Given the description of an element on the screen output the (x, y) to click on. 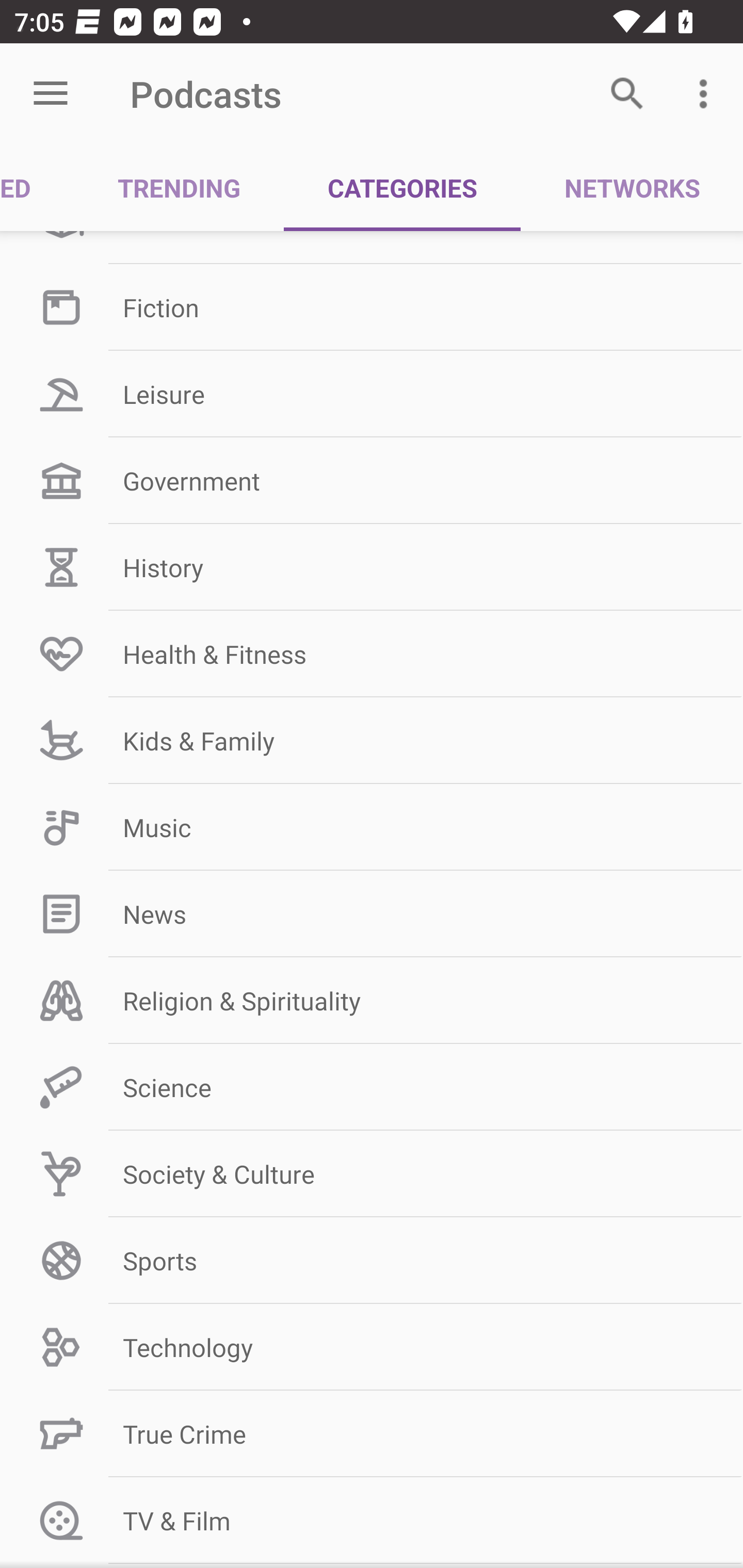
Open menu (50, 93)
Search (626, 93)
More options (706, 93)
TRENDING (178, 187)
CATEGORIES (401, 187)
NETWORKS (631, 187)
Fiction (371, 307)
Leisure (371, 394)
Government (371, 480)
History (371, 566)
Health & Fitness (371, 653)
Kids & Family (371, 740)
Music (371, 827)
News (371, 914)
Religion & Spirituality (371, 1001)
Science (371, 1087)
Society & Culture (371, 1173)
Sports (371, 1260)
Technology (371, 1347)
True Crime (371, 1433)
TV & Film (371, 1520)
